Given the description of an element on the screen output the (x, y) to click on. 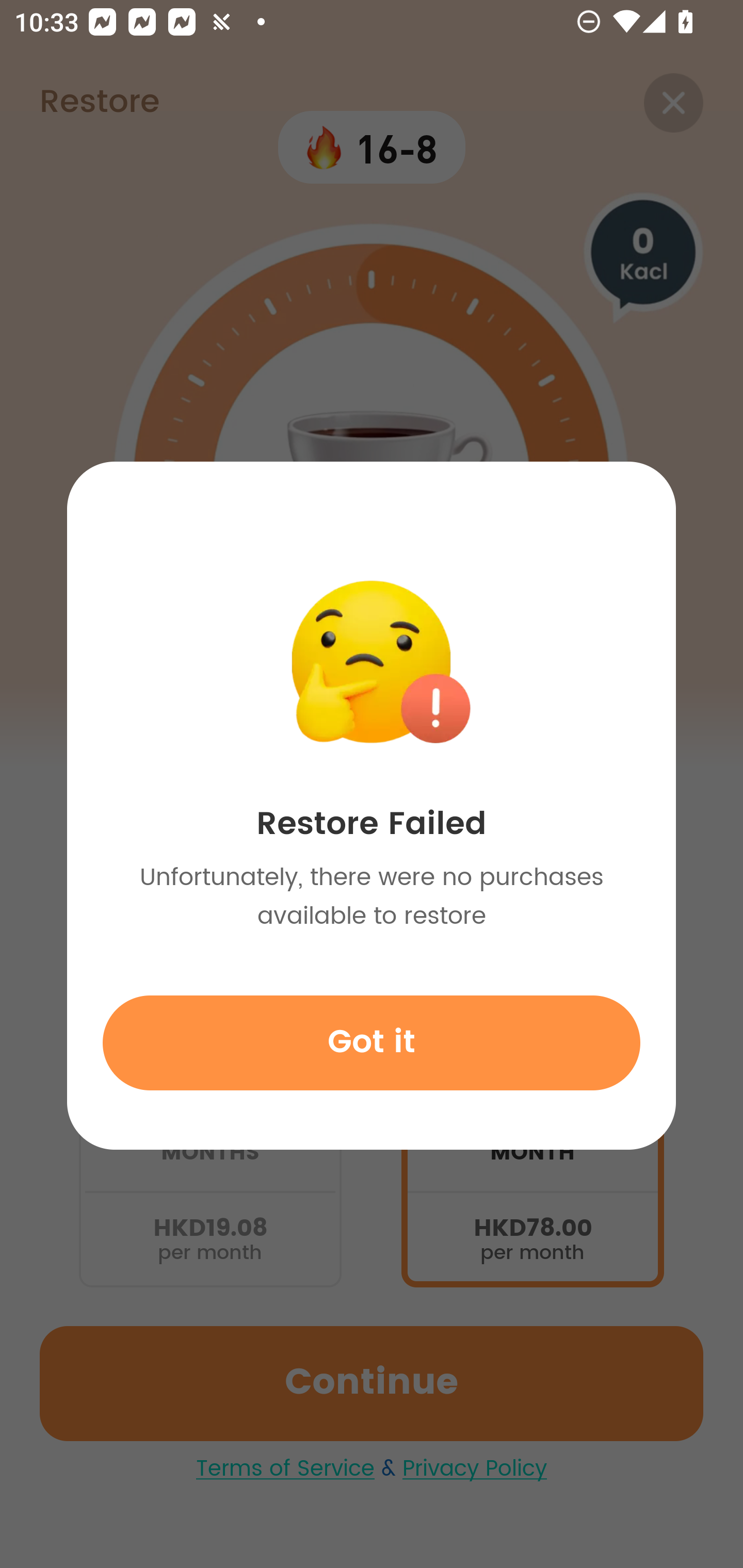
Got it (371, 1042)
